Given the description of an element on the screen output the (x, y) to click on. 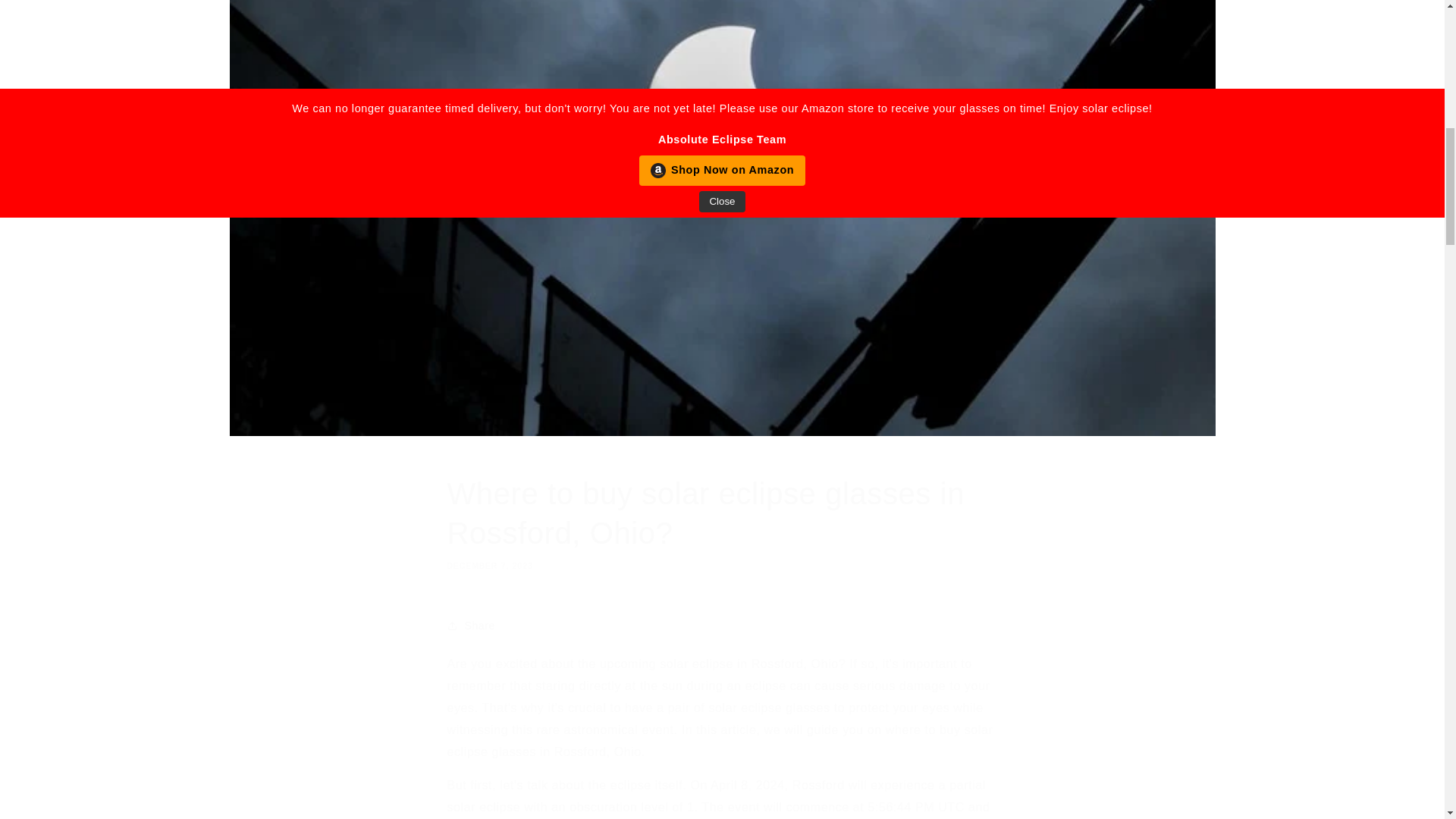
Share (721, 625)
